Given the description of an element on the screen output the (x, y) to click on. 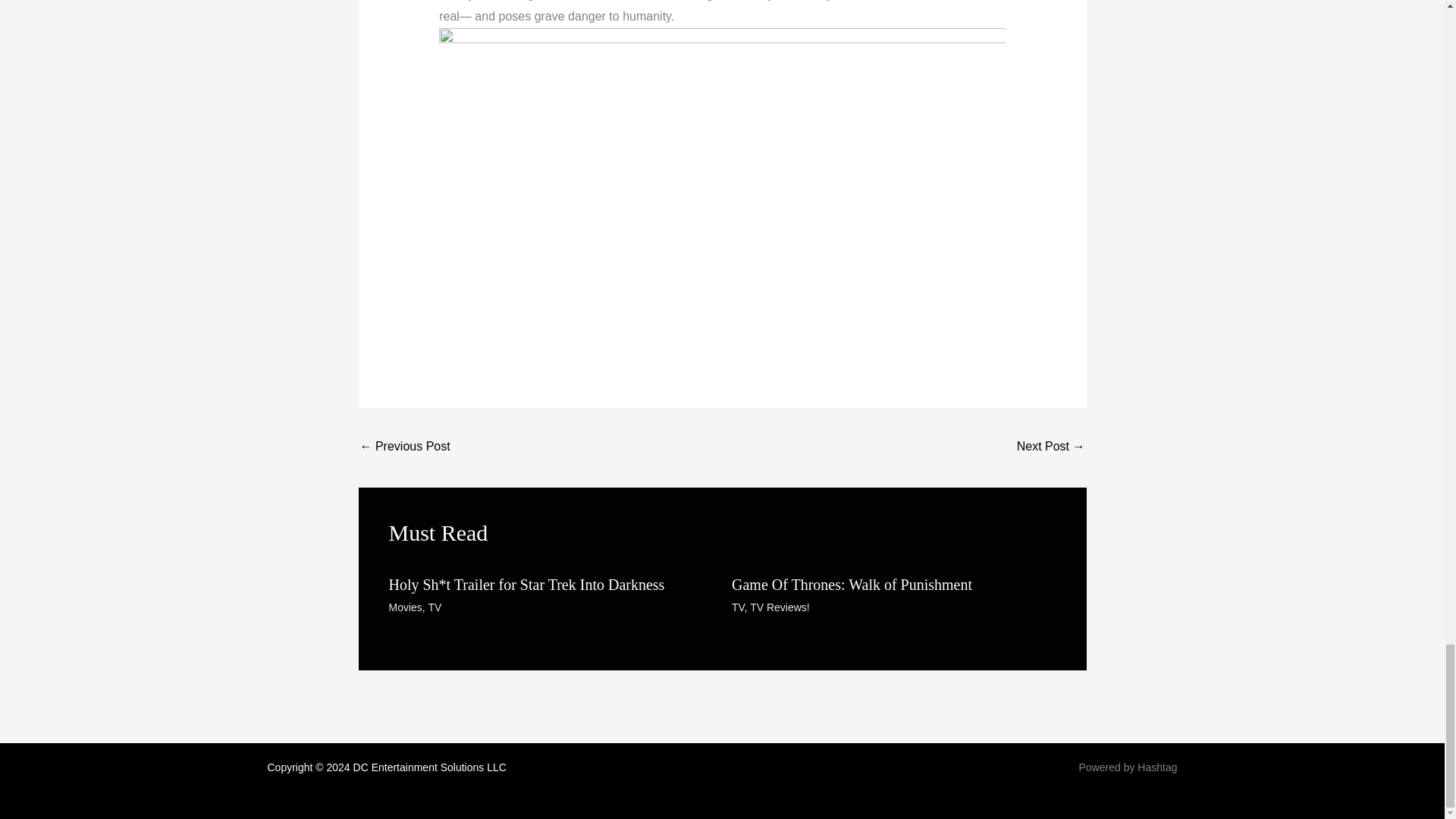
Game Of Thrones: Walk of Punishment (852, 584)
Cloud Riders Princess Leilani Exclusive Preview! (404, 447)
Alien: Covenant - Trailer (1050, 447)
TV Reviews! (779, 607)
TV (434, 607)
TV (738, 607)
Movies (405, 607)
